Given the description of an element on the screen output the (x, y) to click on. 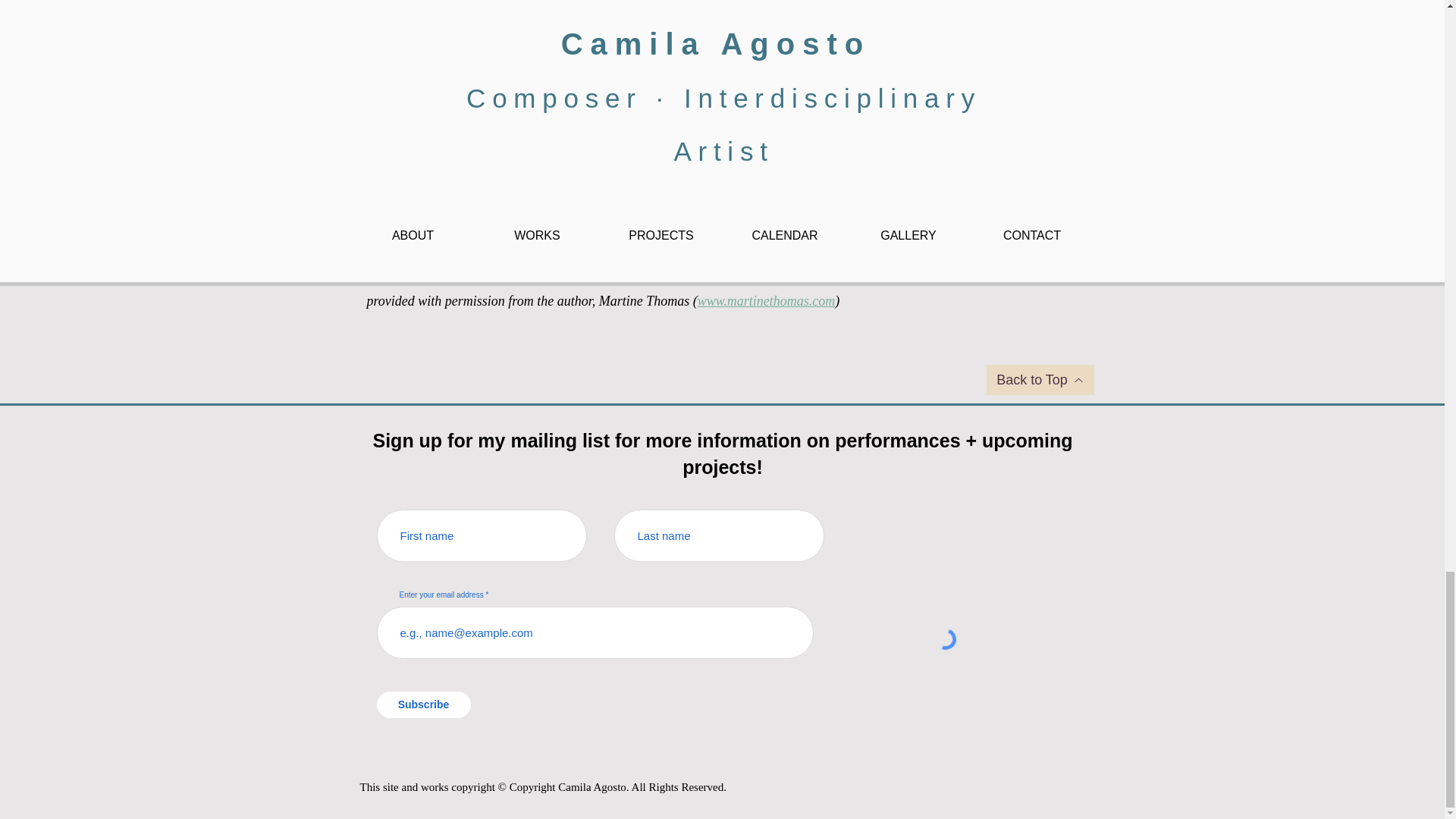
Subscribe (422, 704)
www.martinethomas.com (766, 300)
Back to Top (1039, 379)
